Given the description of an element on the screen output the (x, y) to click on. 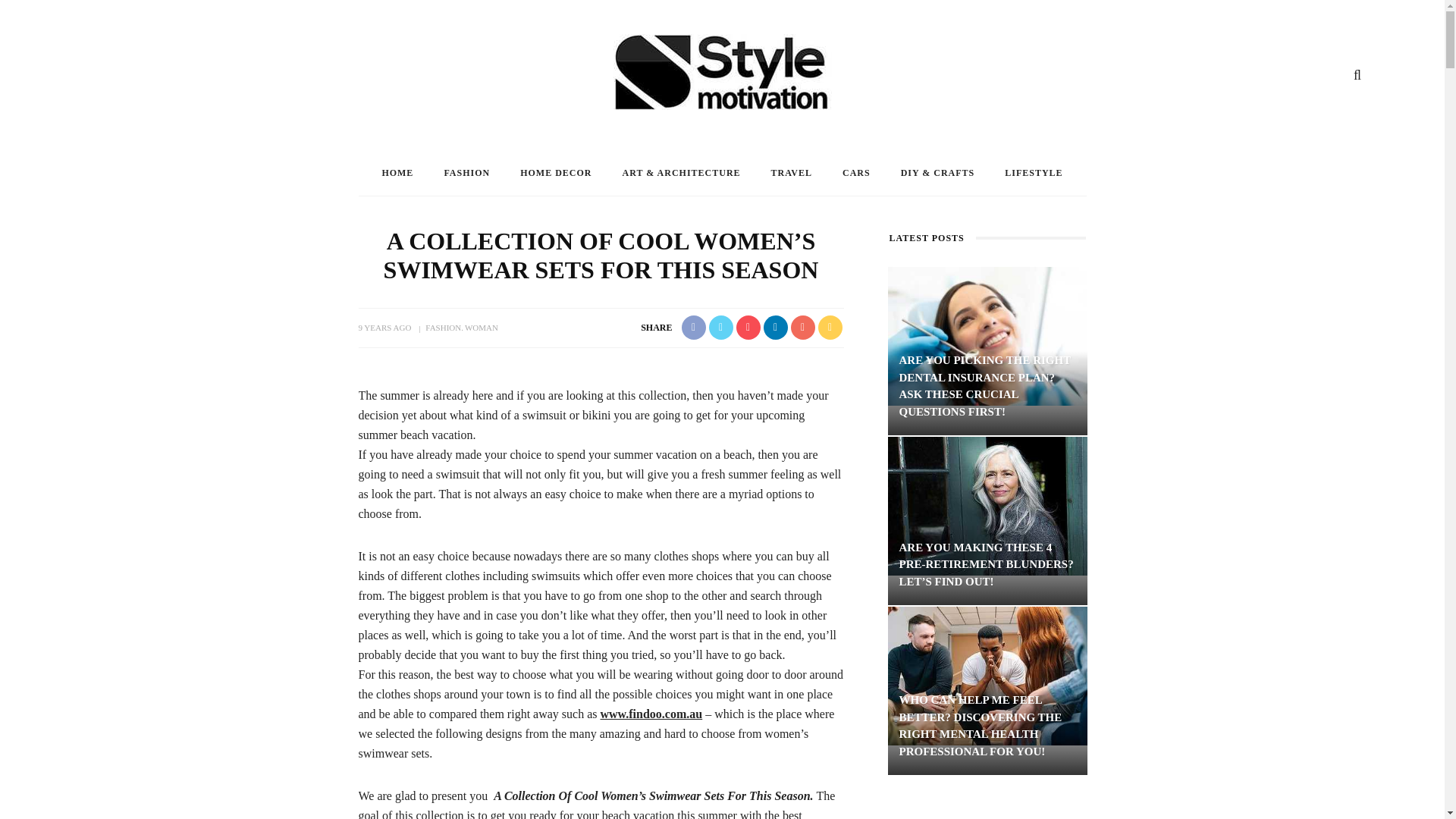
FASHION (466, 172)
HOME DECOR (556, 172)
CARS (856, 172)
LIFESTYLE (1033, 172)
www.findoo.com.au (651, 713)
HOME (397, 172)
FASHION (443, 327)
WOMAN (479, 327)
TRAVEL (791, 172)
